Given the description of an element on the screen output the (x, y) to click on. 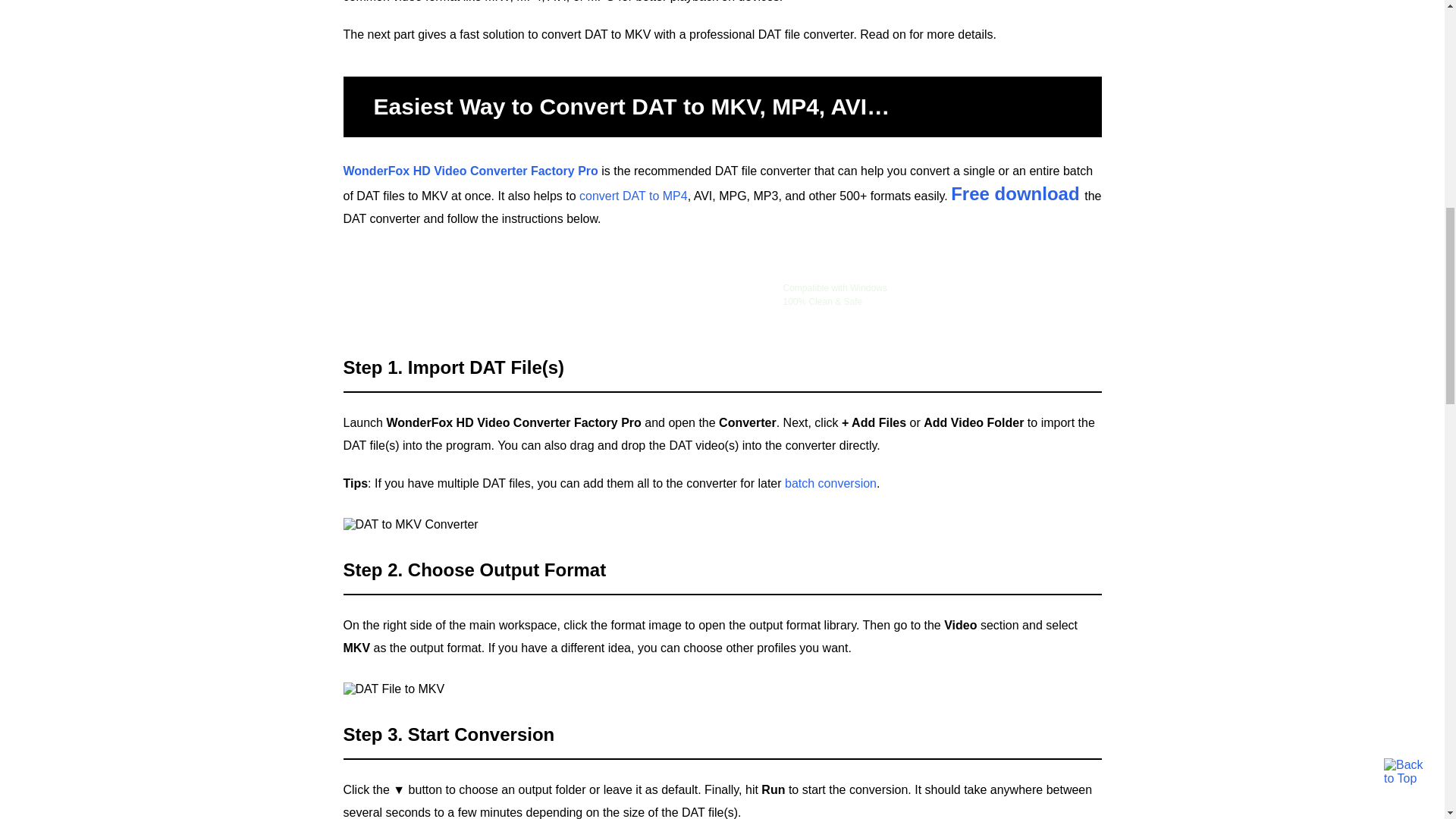
Free download (1014, 193)
batch conversion (830, 482)
WonderFox HD Video Converter Factory Pro (469, 170)
convert DAT to MP4 (633, 195)
